Given the description of an element on the screen output the (x, y) to click on. 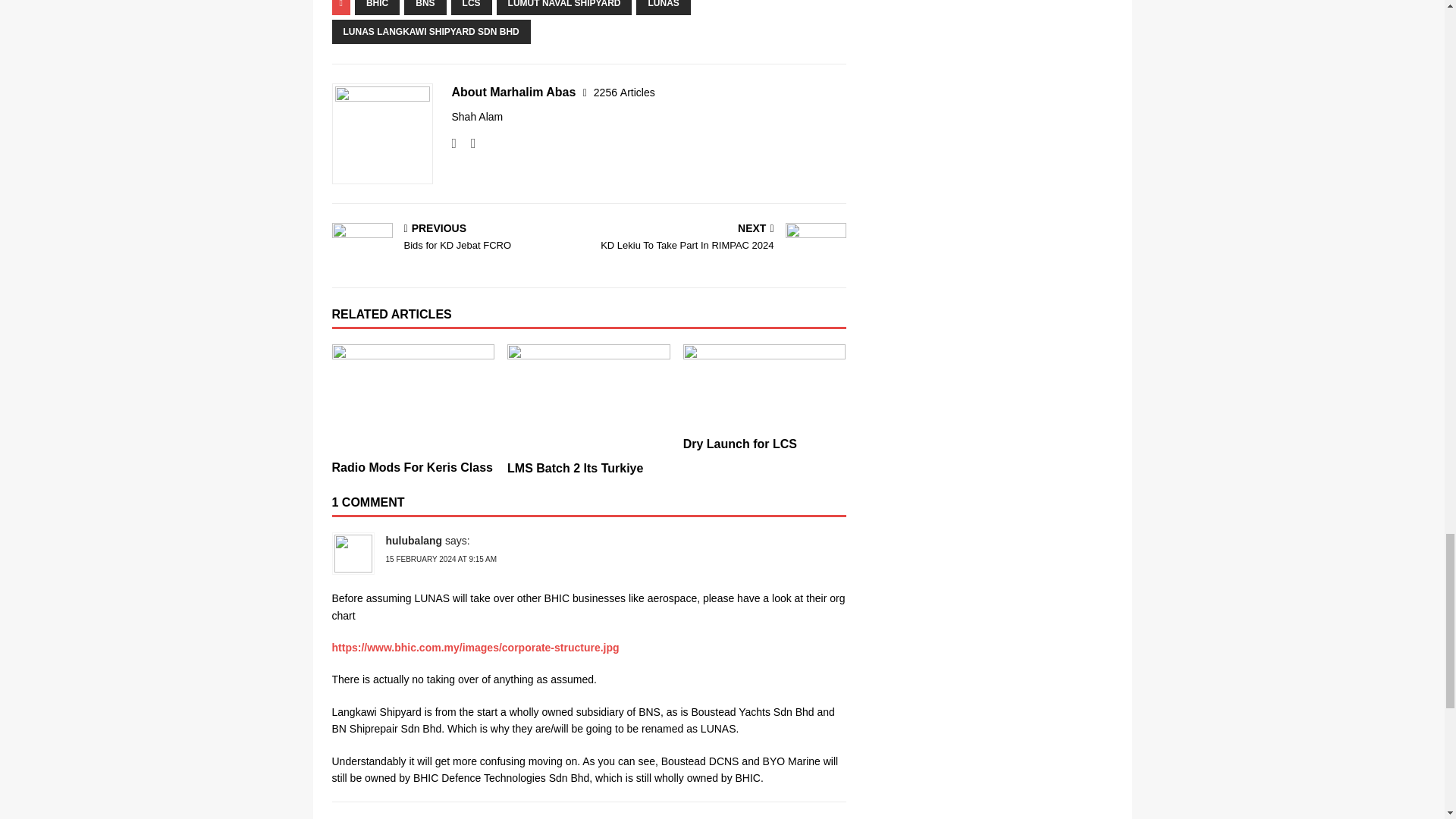
2256 Articles (624, 92)
LUNAS LANGKAWI SHIPYARD SDN BHD (431, 31)
LUMUT NAVAL SHIPYARD (720, 237)
LCS (563, 7)
LUNAS (471, 7)
BNS (663, 7)
Radio Mods For Keris Class (424, 7)
BHIC (412, 467)
